Given the description of an element on the screen output the (x, y) to click on. 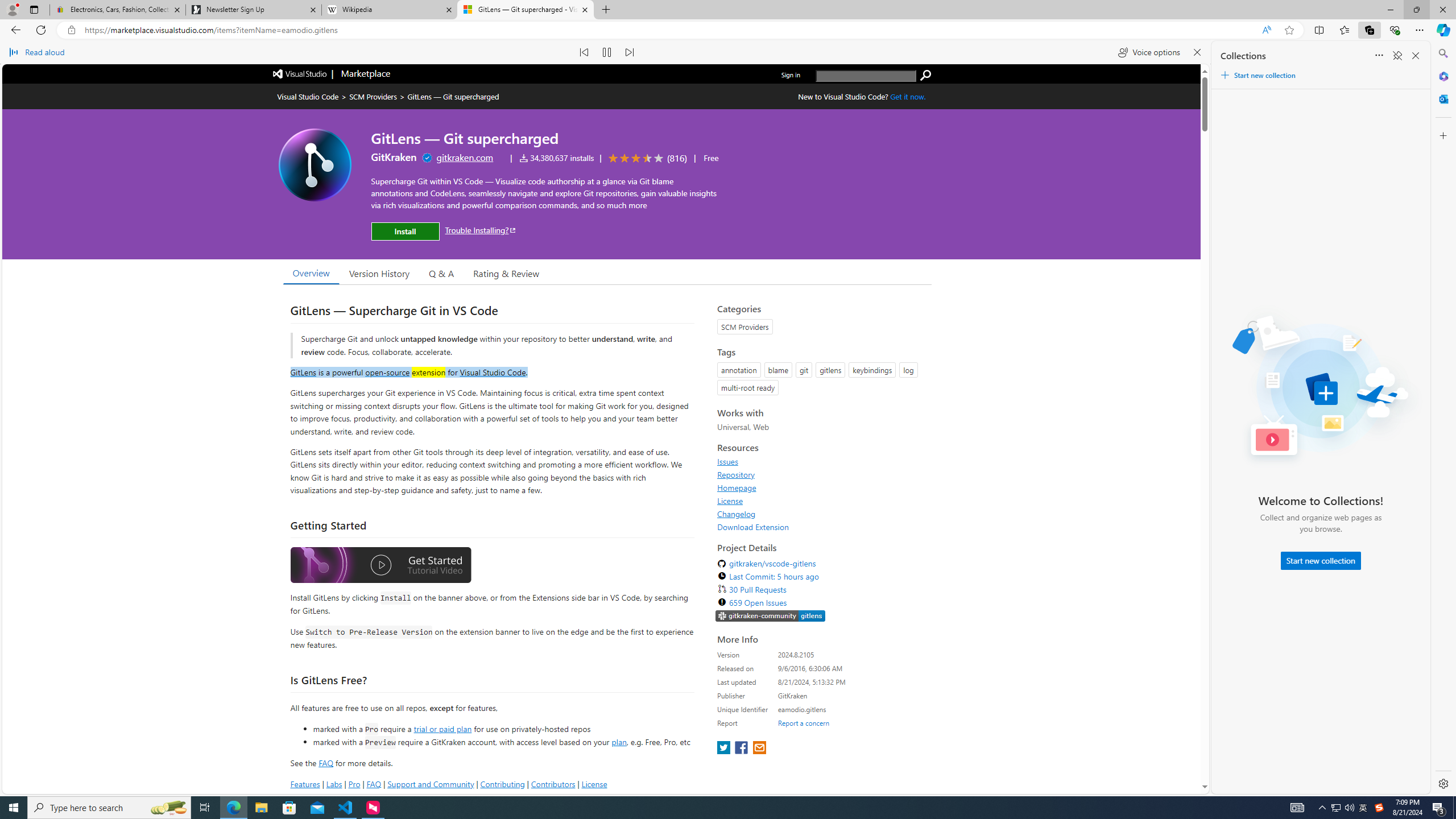
Issues (820, 461)
Overview (310, 272)
License (820, 500)
Get Visual Studio Code Now (907, 96)
share extension on twitter (724, 748)
Close Collections (1415, 55)
More from GitKraken publisher (393, 156)
Voice options (1149, 52)
search (925, 75)
